Given the description of an element on the screen output the (x, y) to click on. 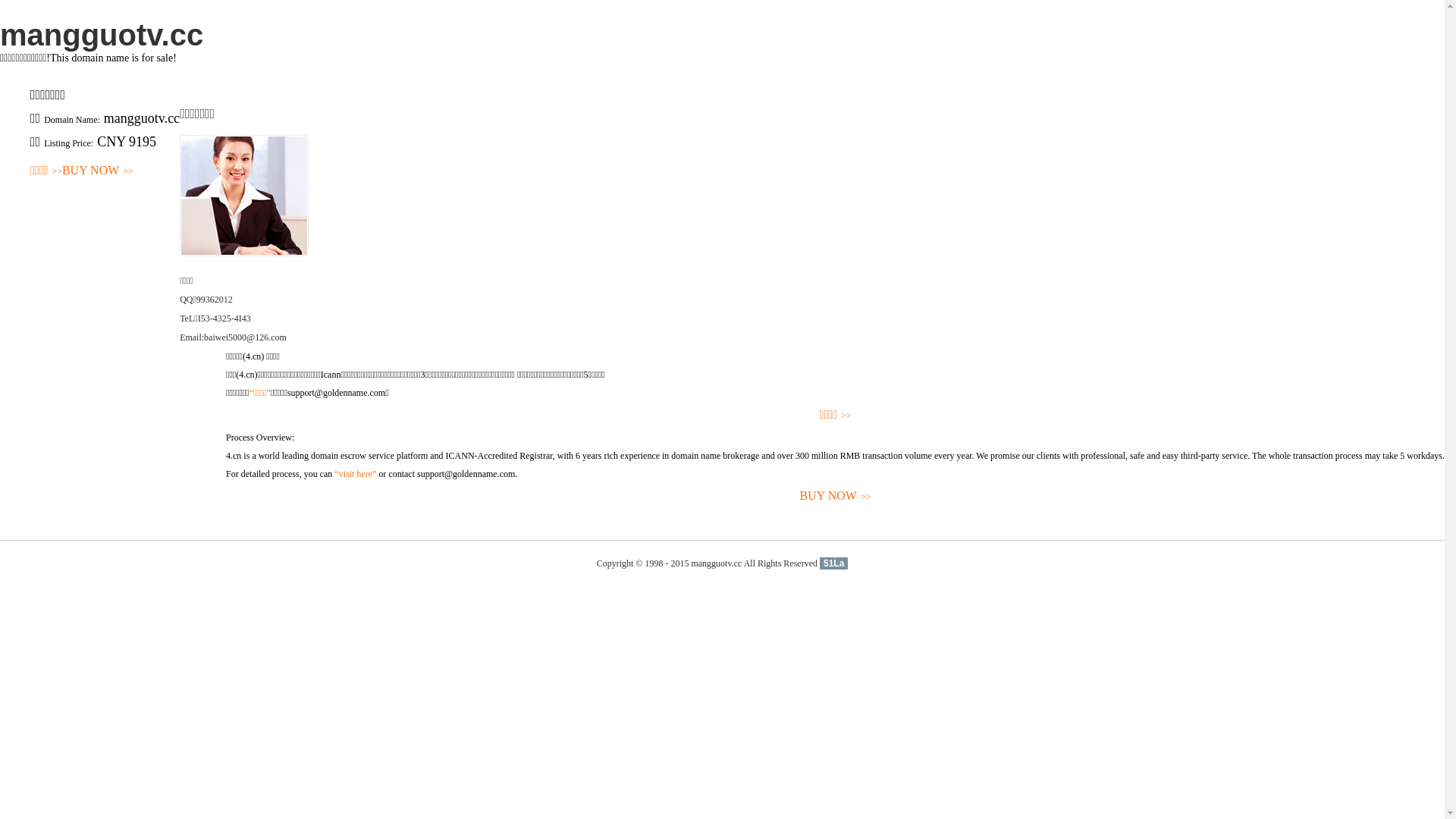
51La Element type: text (833, 563)
BUY NOW>> Element type: text (834, 496)
BUY NOW>> Element type: text (97, 170)
